Given the description of an element on the screen output the (x, y) to click on. 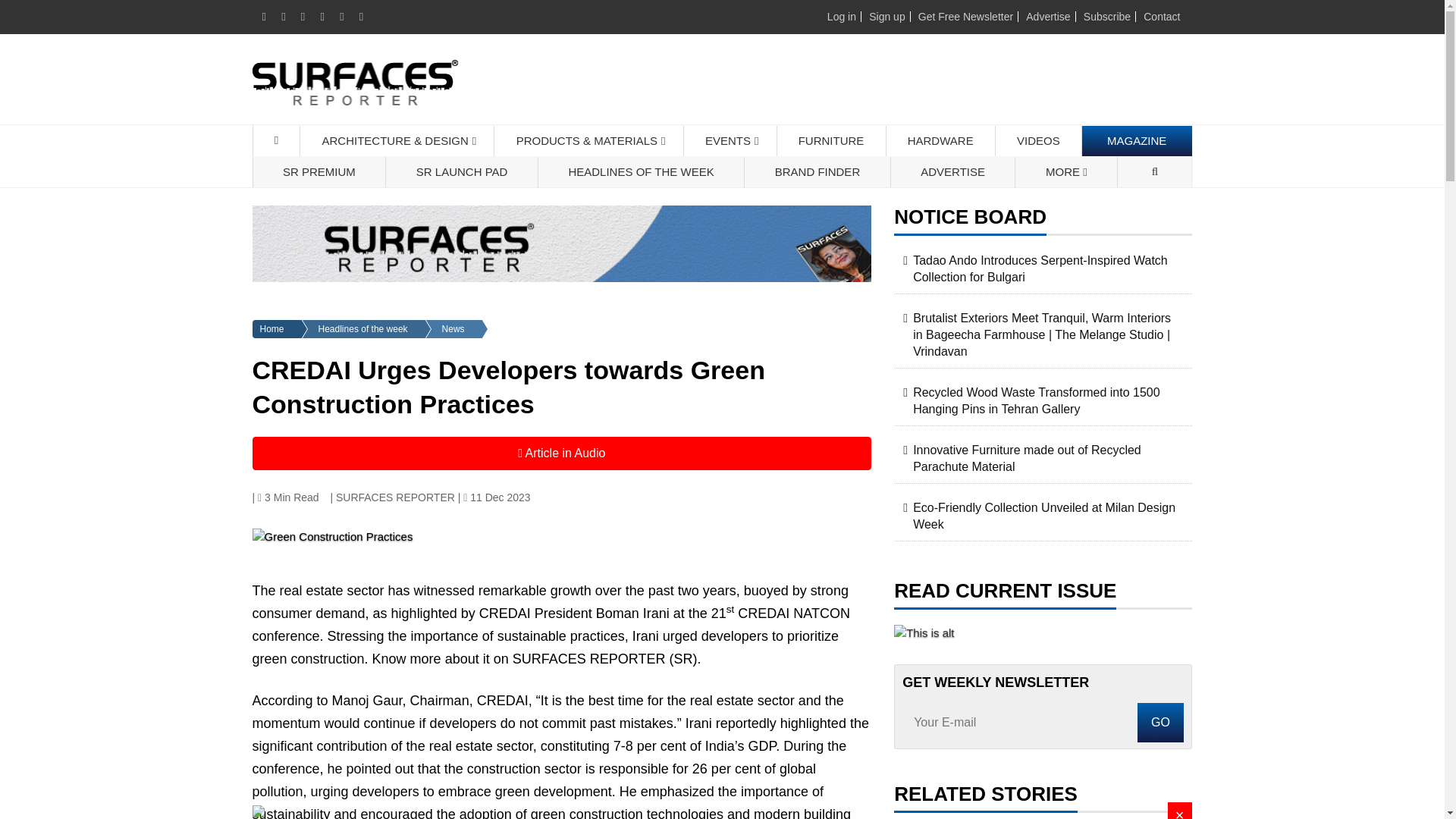
Subscribe (1107, 16)
Advertise (1048, 16)
Go (1161, 722)
Contact (1160, 16)
Sign up (886, 16)
Log in (841, 16)
Get Free Newsletter (965, 16)
